Given the description of an element on the screen output the (x, y) to click on. 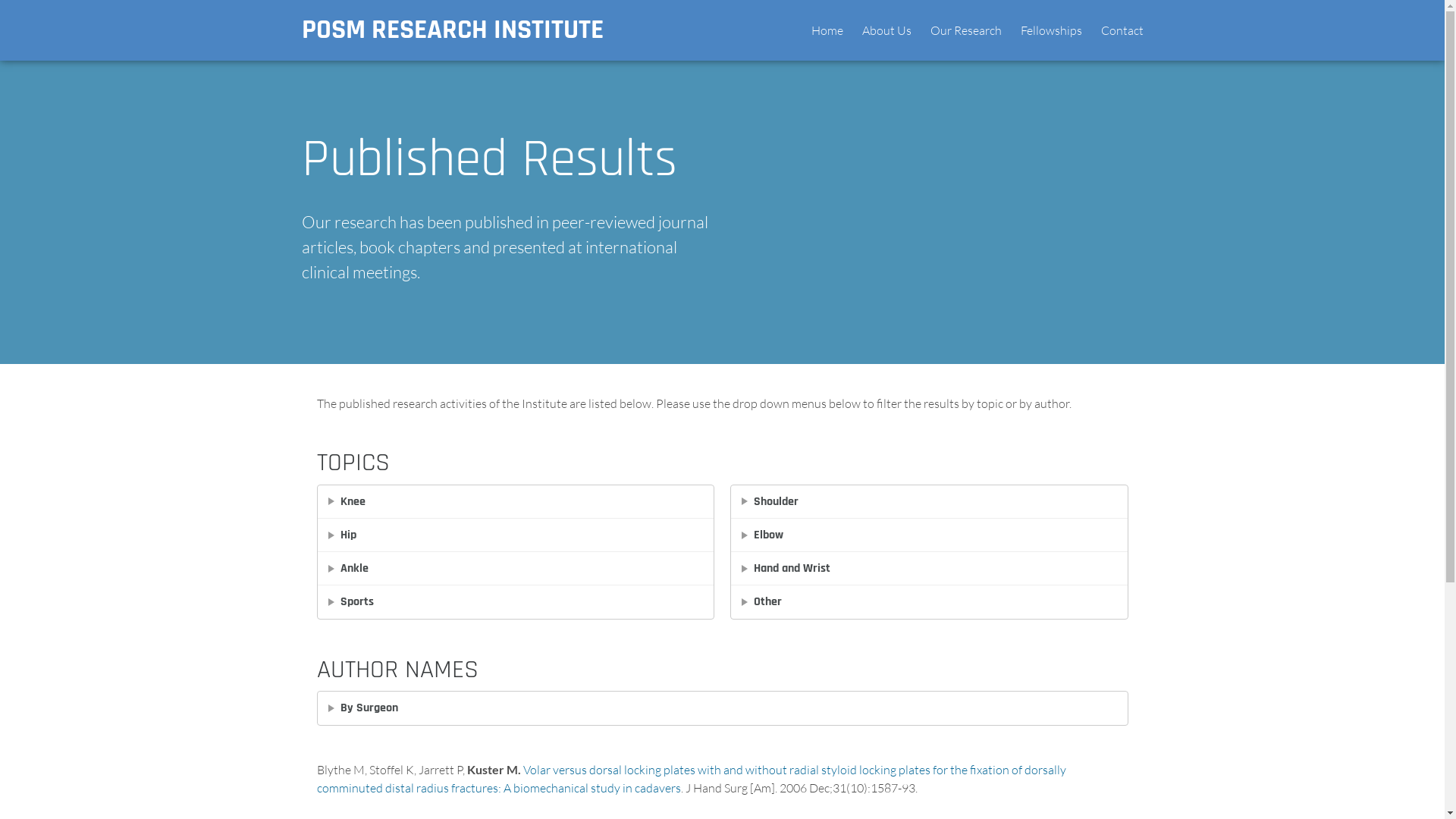
Contact Element type: text (1122, 29)
Home Element type: text (827, 29)
Our Research Element type: text (965, 29)
About Us Element type: text (885, 29)
Fellowships Element type: text (1051, 29)
POSM RESEARCH INSTITUTE Element type: text (452, 29)
